Given the description of an element on the screen output the (x, y) to click on. 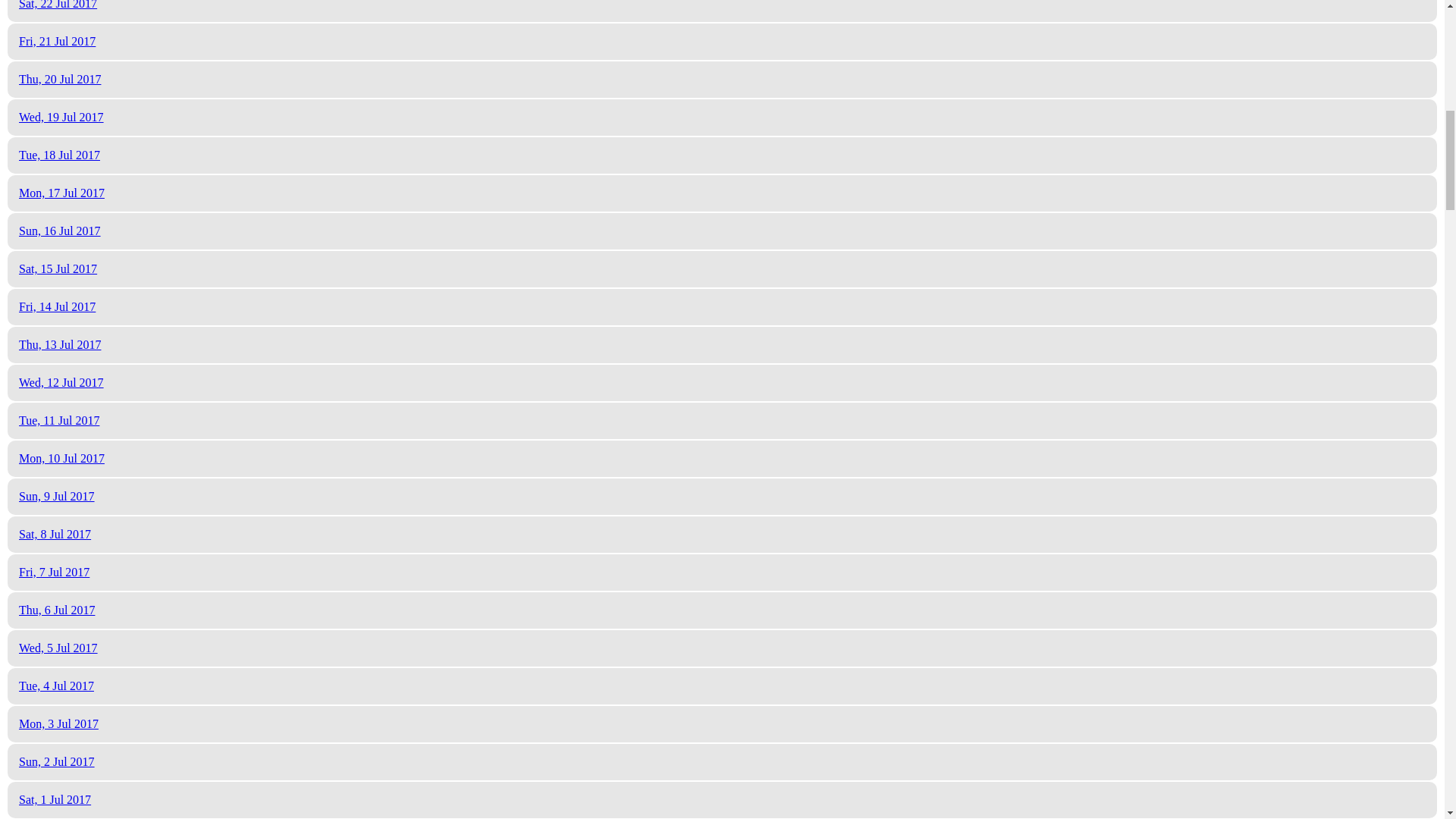
Mon, 10 Jul 2017 (61, 458)
Fri, 7 Jul 2017 (53, 571)
Thu, 20 Jul 2017 (59, 78)
Wed, 5 Jul 2017 (57, 647)
Sat, 22 Jul 2017 (57, 4)
Mon, 17 Jul 2017 (61, 192)
Fri, 21 Jul 2017 (57, 41)
Thu, 13 Jul 2017 (59, 344)
Wed, 19 Jul 2017 (60, 116)
Tue, 18 Jul 2017 (59, 154)
Sat, 15 Jul 2017 (57, 268)
Fri, 14 Jul 2017 (57, 306)
Sun, 16 Jul 2017 (59, 230)
Thu, 6 Jul 2017 (56, 609)
Tue, 4 Jul 2017 (56, 685)
